Given the description of an element on the screen output the (x, y) to click on. 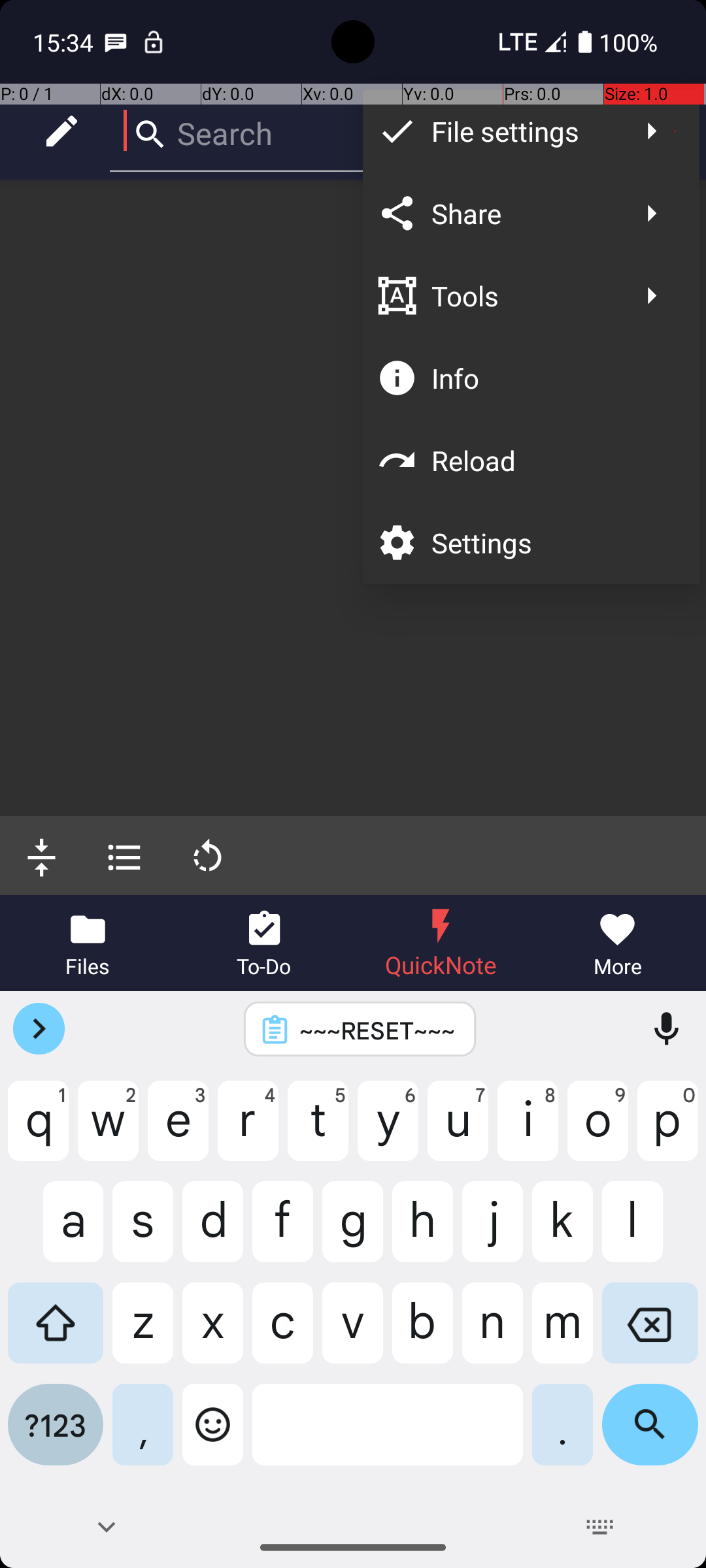
File settings Element type: android.widget.TextView (524, 130)
Tools Element type: android.widget.TextView (524, 295)
Info Element type: android.widget.TextView (551, 377)
Reload Element type: android.widget.TextView (551, 459)
